Given the description of an element on the screen output the (x, y) to click on. 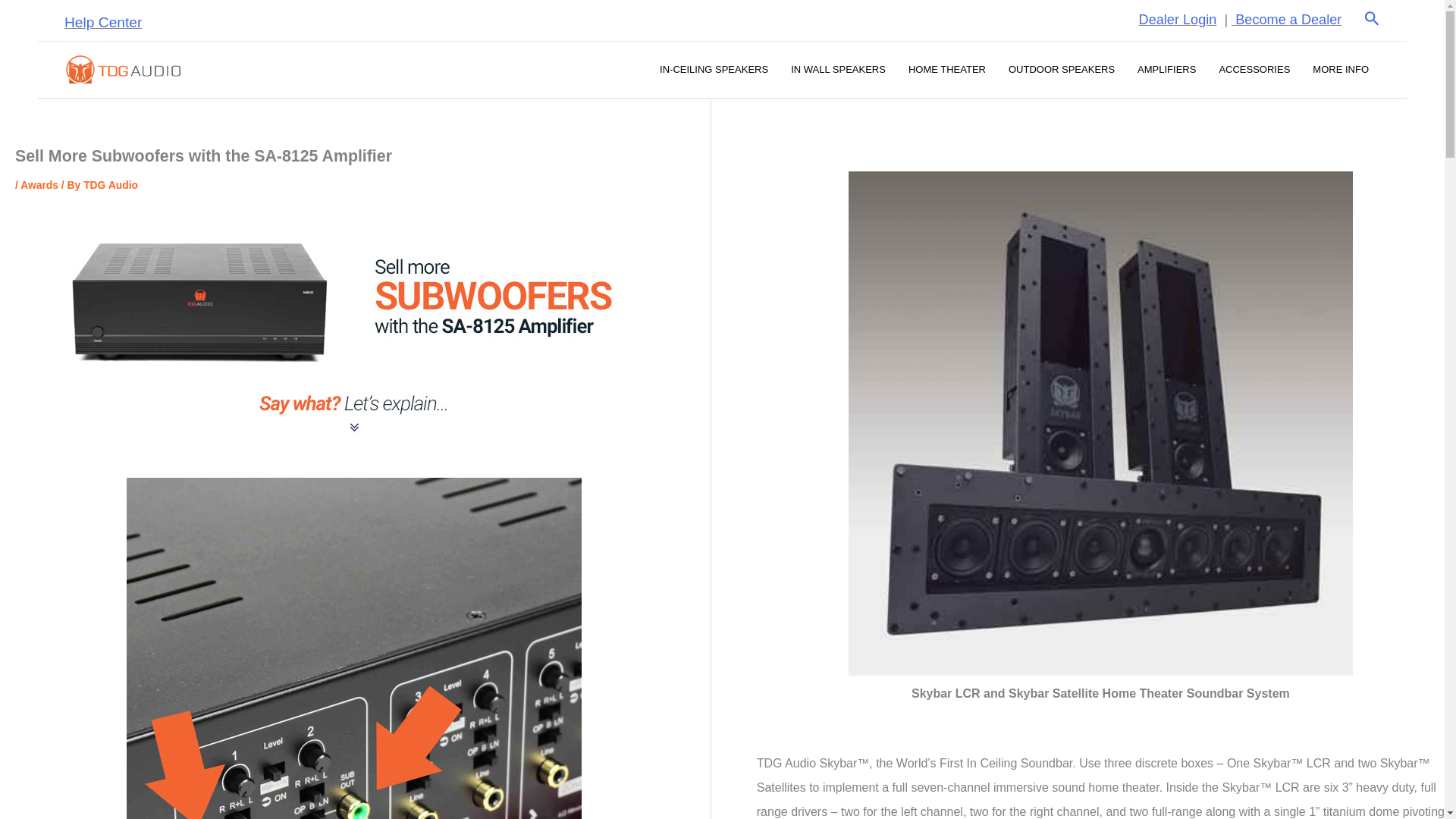
Chat Widget (37, 782)
Dealer Login (1177, 19)
Become a Dealer (1287, 19)
Help Center (102, 22)
IN-CEILING SPEAKERS (712, 69)
